Given the description of an element on the screen output the (x, y) to click on. 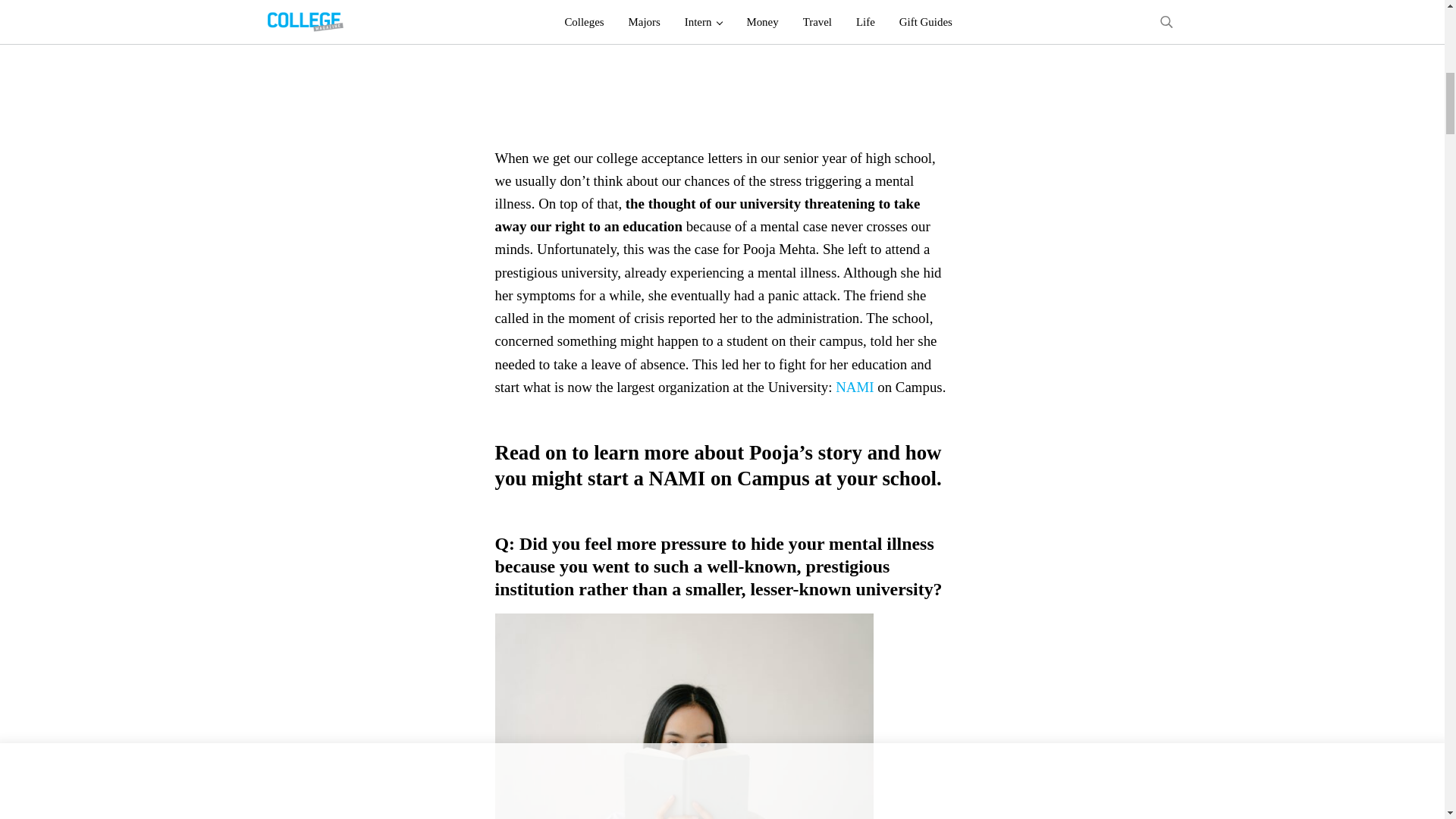
NAMI (853, 386)
